Given the description of an element on the screen output the (x, y) to click on. 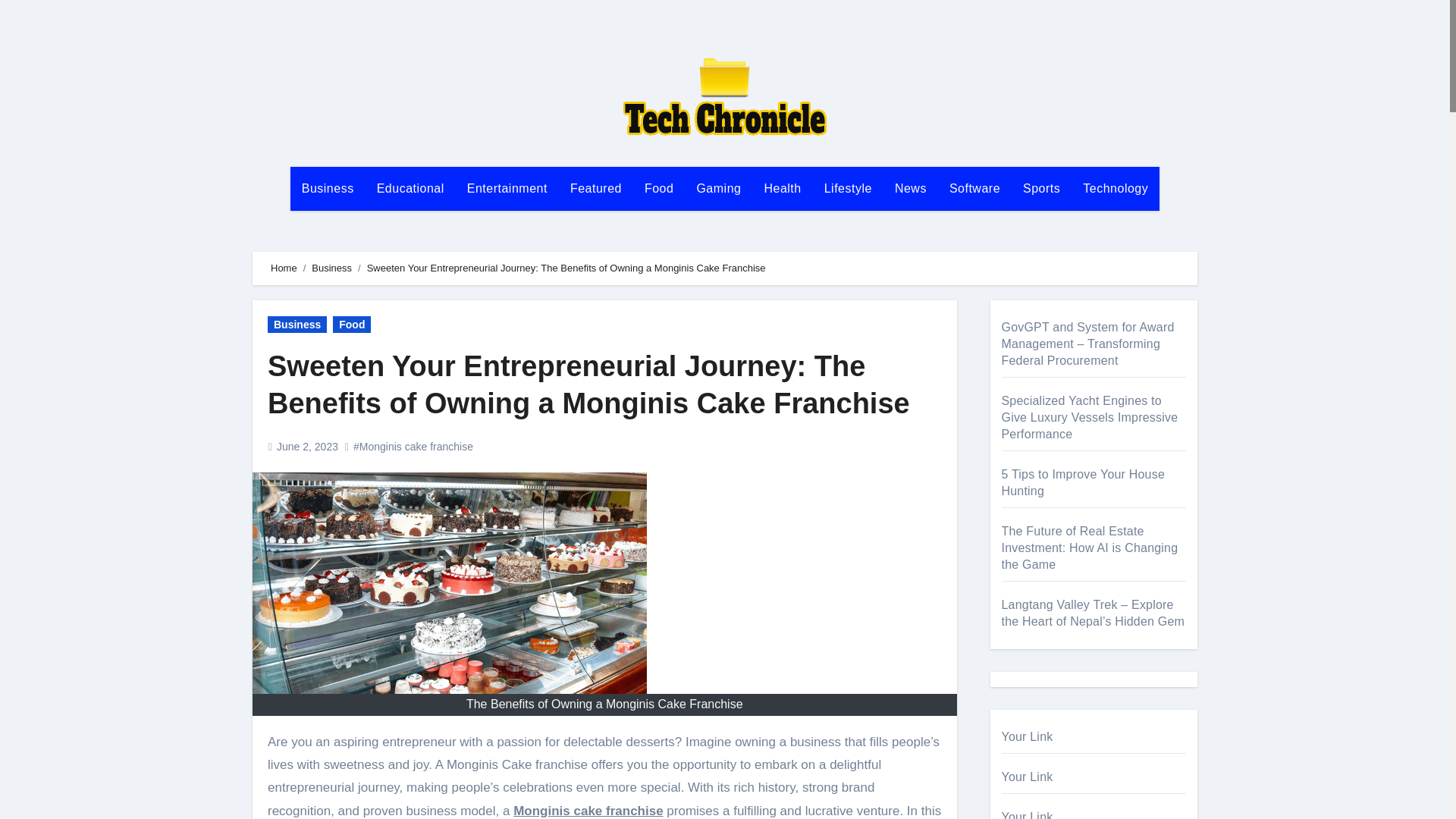
Featured (596, 188)
Sports (1041, 188)
Business (327, 188)
Lifestyle (847, 188)
News (910, 188)
Home (283, 267)
Business (327, 188)
Food (658, 188)
